Given the description of an element on the screen output the (x, y) to click on. 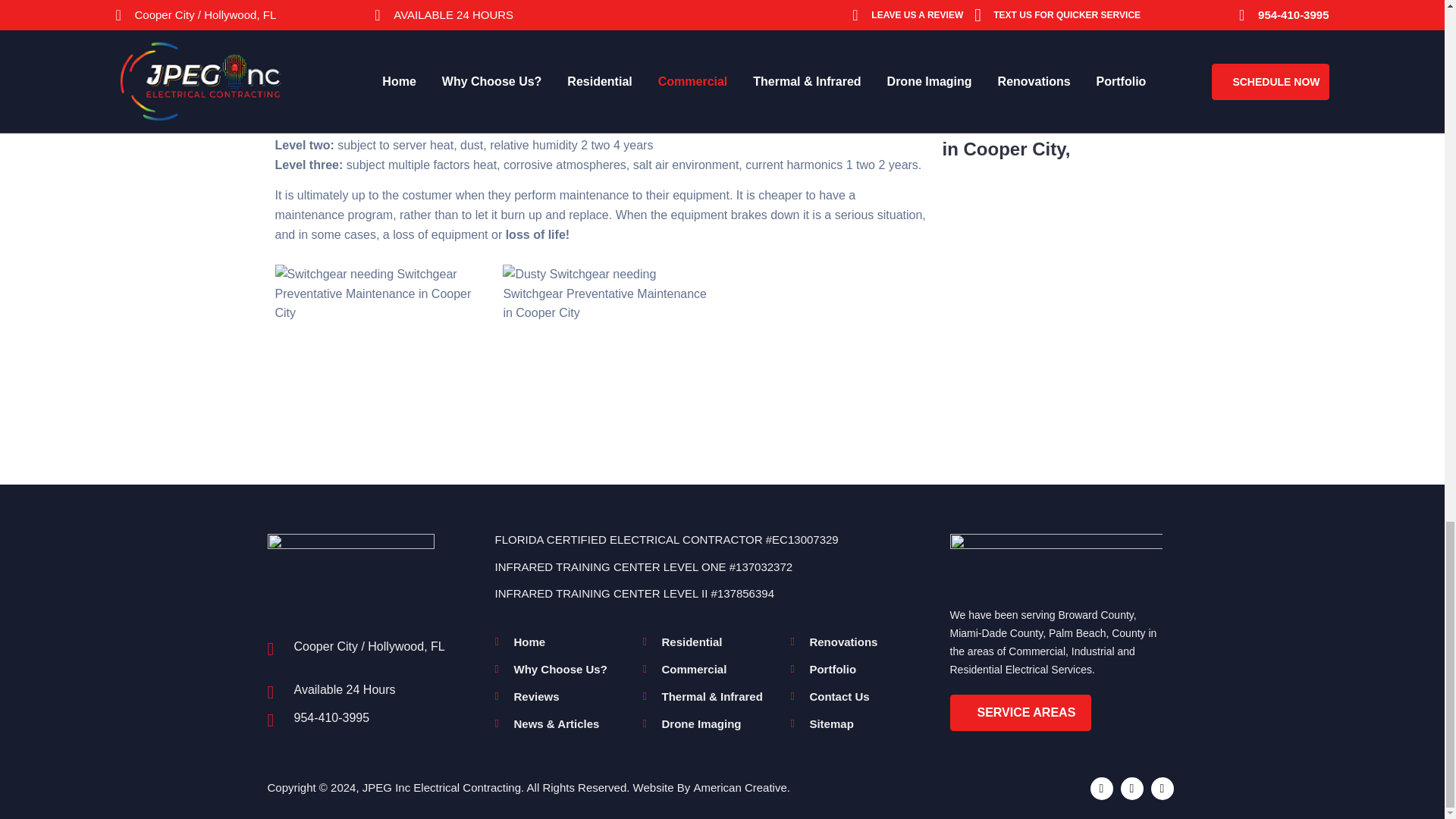
Facebook (1131, 788)
Instagram (1162, 788)
Twitter (1101, 788)
